Given the description of an element on the screen output the (x, y) to click on. 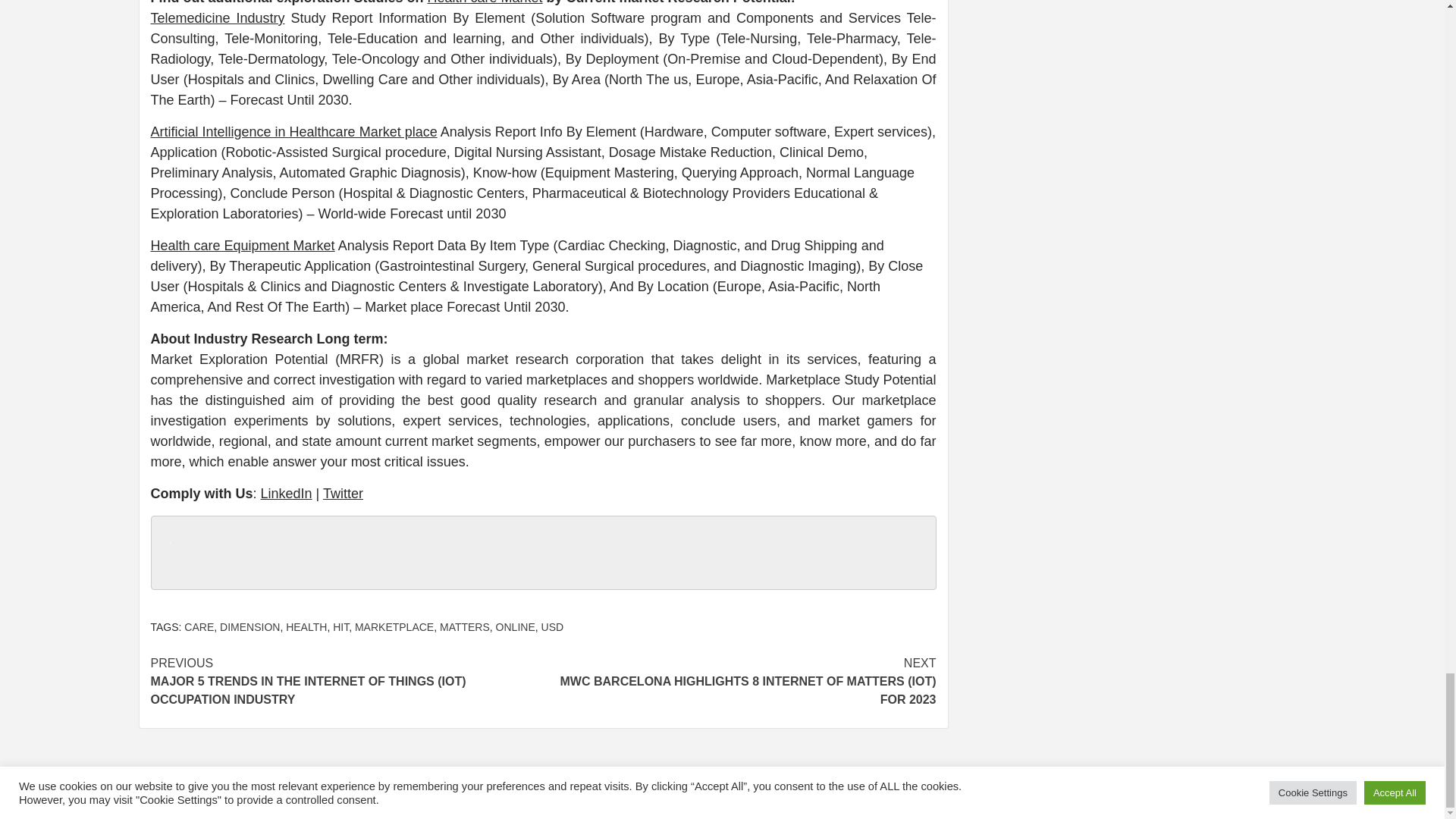
DIMENSION (249, 626)
ONLINE (515, 626)
MARKETPLACE (394, 626)
HEALTH (305, 626)
Magazine 7 (779, 793)
USD (552, 626)
HIT (341, 626)
CARE (199, 626)
MATTERS (464, 626)
